Given the description of an element on the screen output the (x, y) to click on. 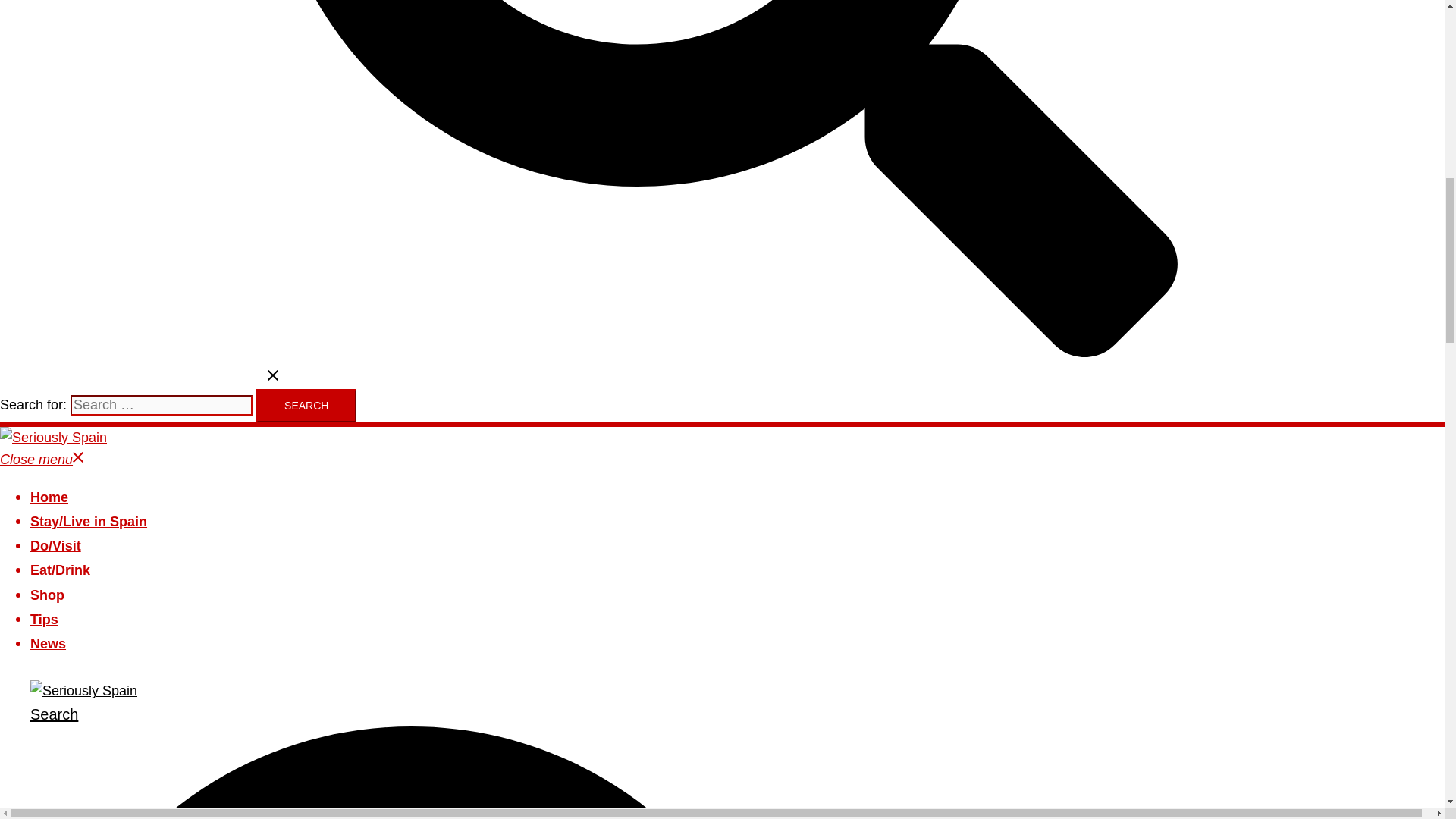
Seriously Spain (53, 437)
Seriously Spain (83, 690)
Search (306, 405)
News (47, 643)
Search (499, 762)
Search (306, 405)
Home (49, 497)
Close menu (42, 459)
Shop (47, 594)
